Given the description of an element on the screen output the (x, y) to click on. 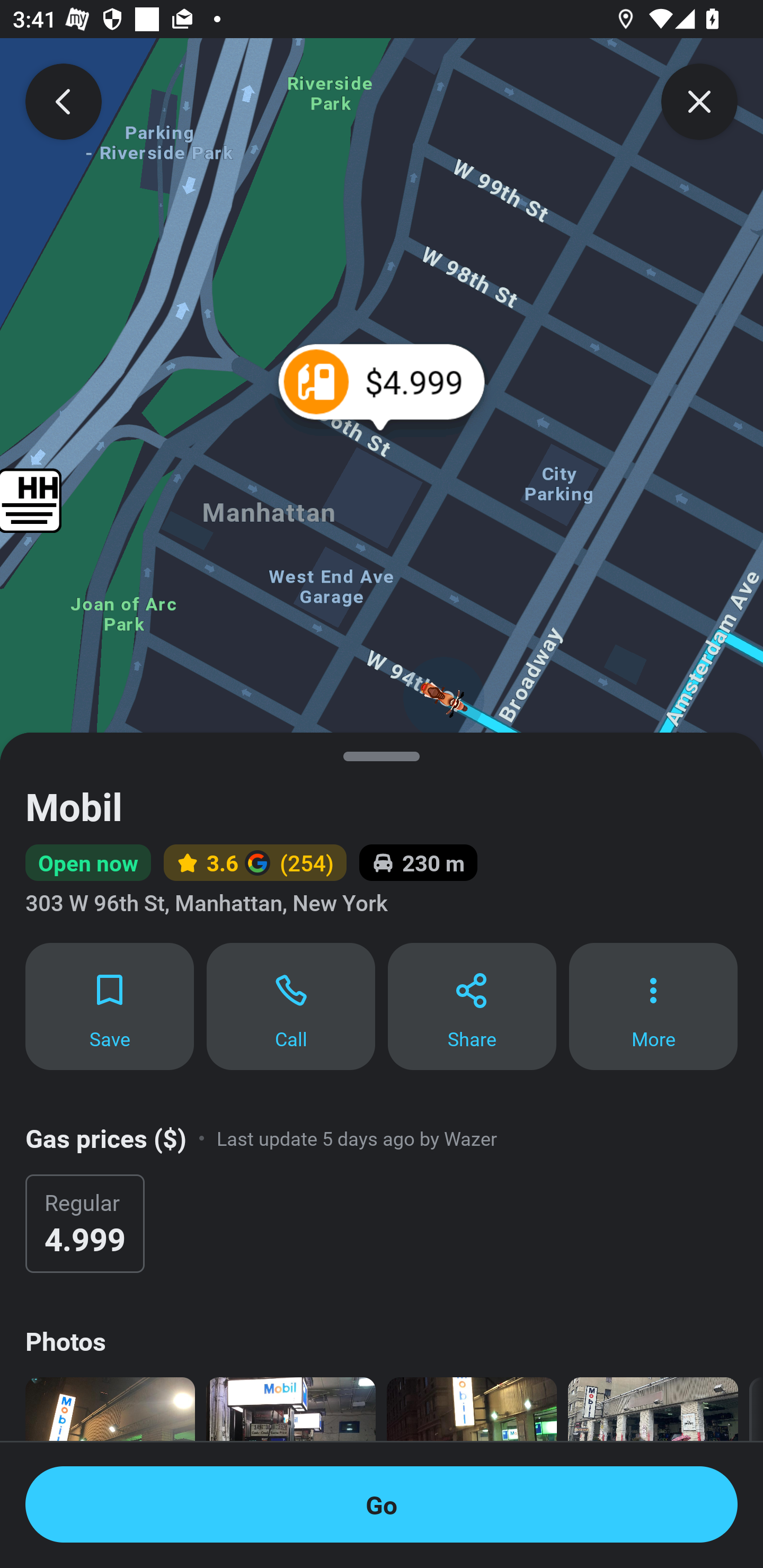
Save (109, 1005)
Call (290, 1005)
Share (471, 1005)
More (653, 1005)
Go (381, 1504)
